Given the description of an element on the screen output the (x, y) to click on. 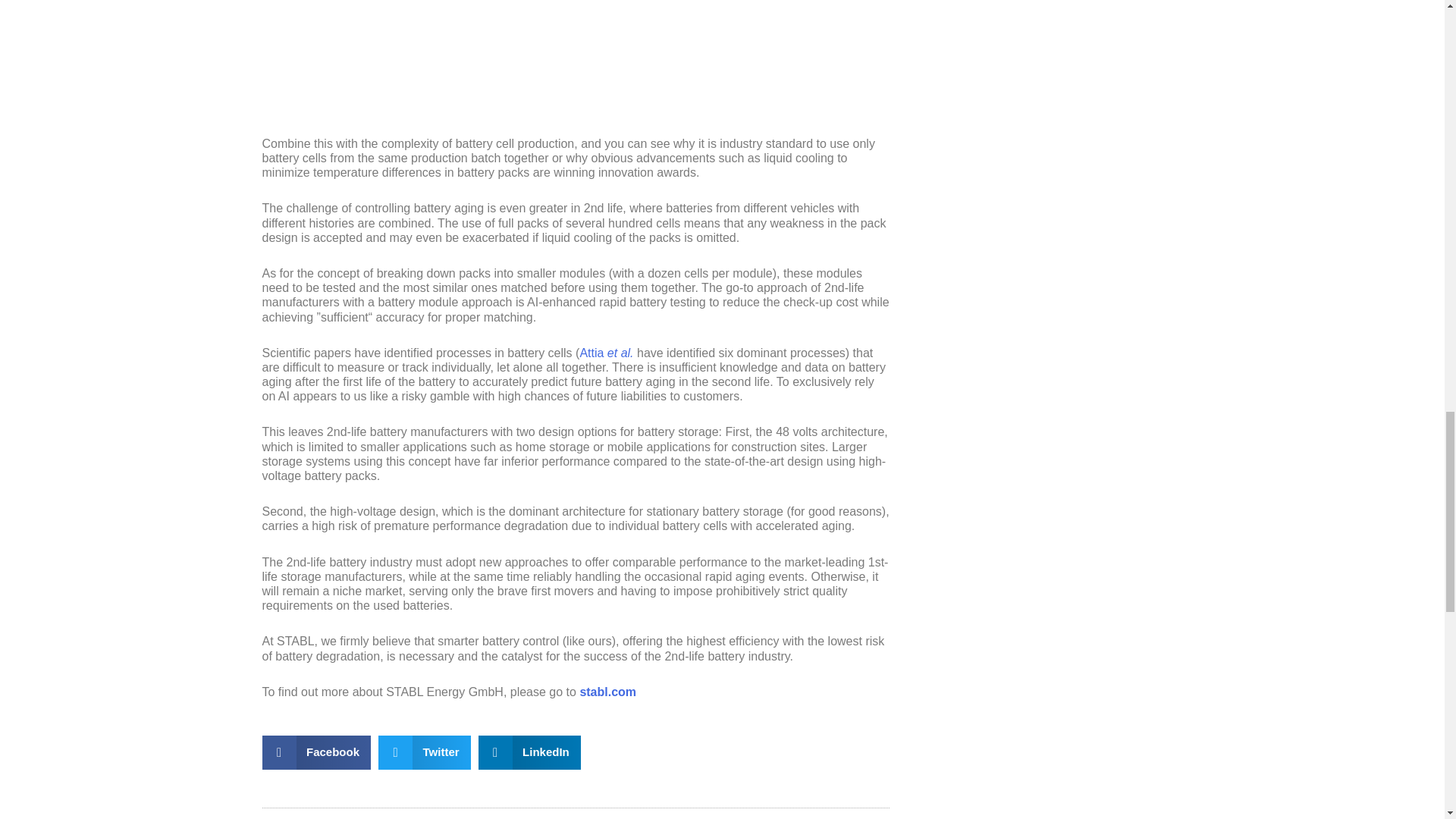
Attia et al. (606, 352)
stabl.com (607, 691)
